Given the description of an element on the screen output the (x, y) to click on. 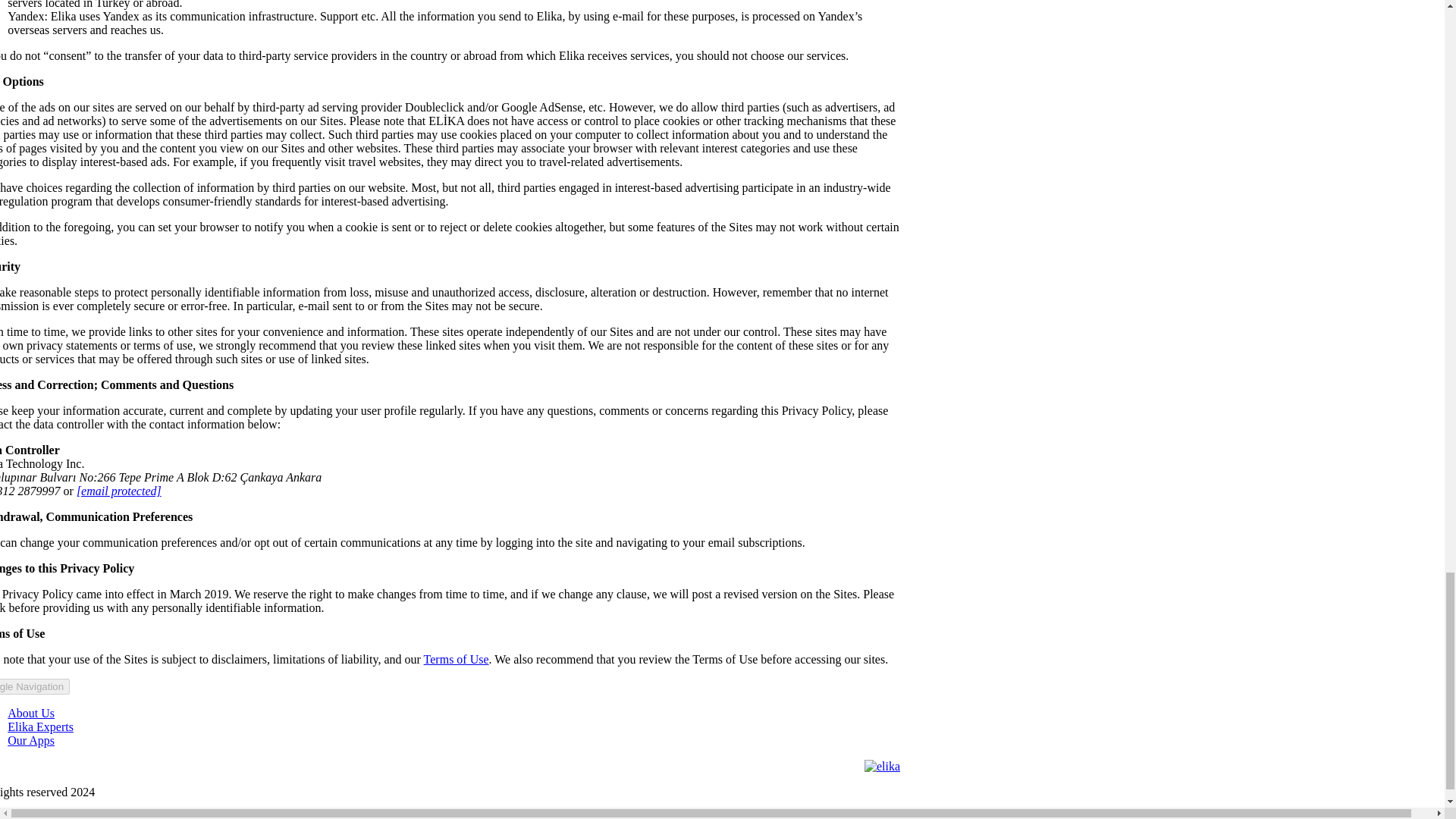
Elika Experts (34, 686)
Our Apps (40, 726)
All rights reserved 2024 (31, 739)
Terms of Use (31, 712)
